Given the description of an element on the screen output the (x, y) to click on. 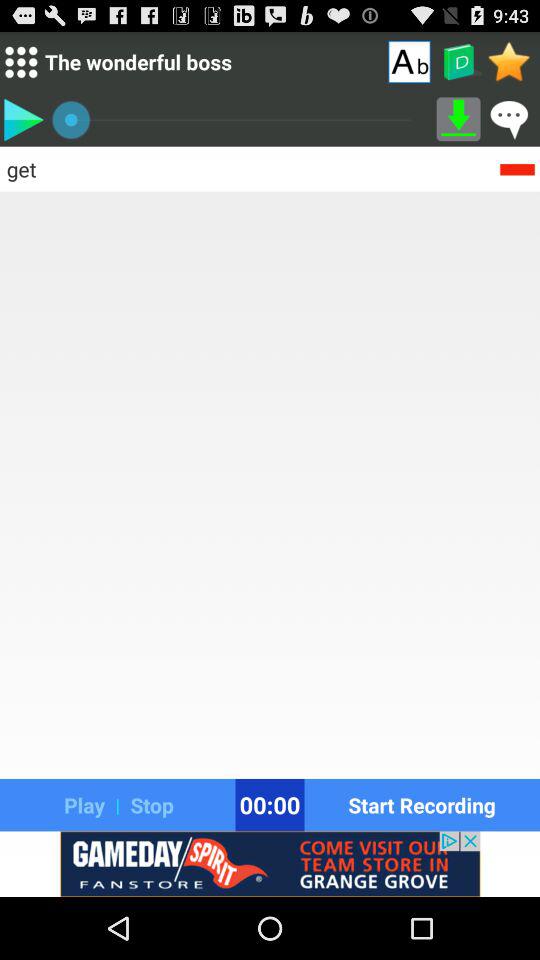
download (458, 119)
